Given the description of an element on the screen output the (x, y) to click on. 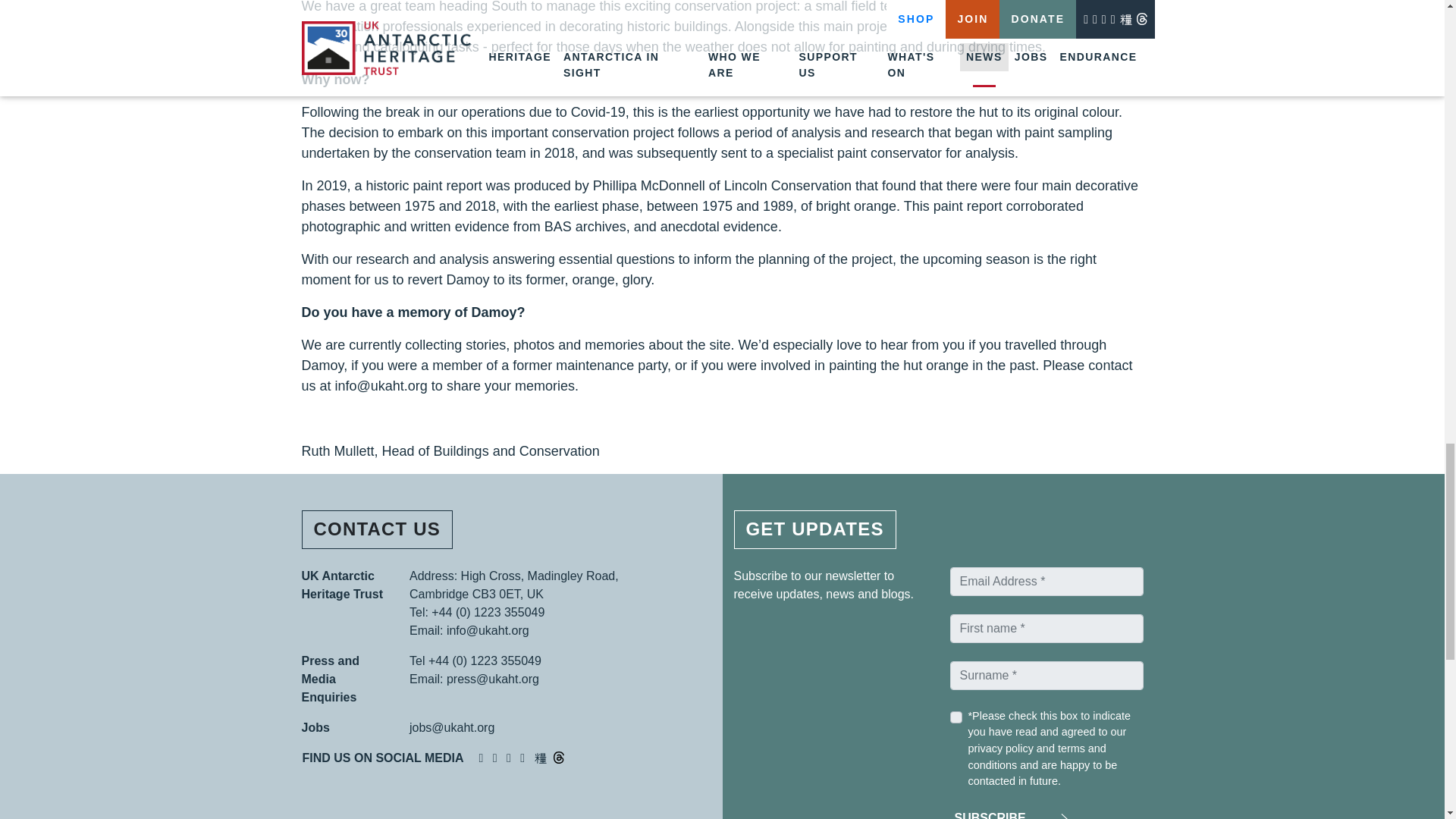
SUBSCRIBE (1008, 813)
